Given the description of an element on the screen output the (x, y) to click on. 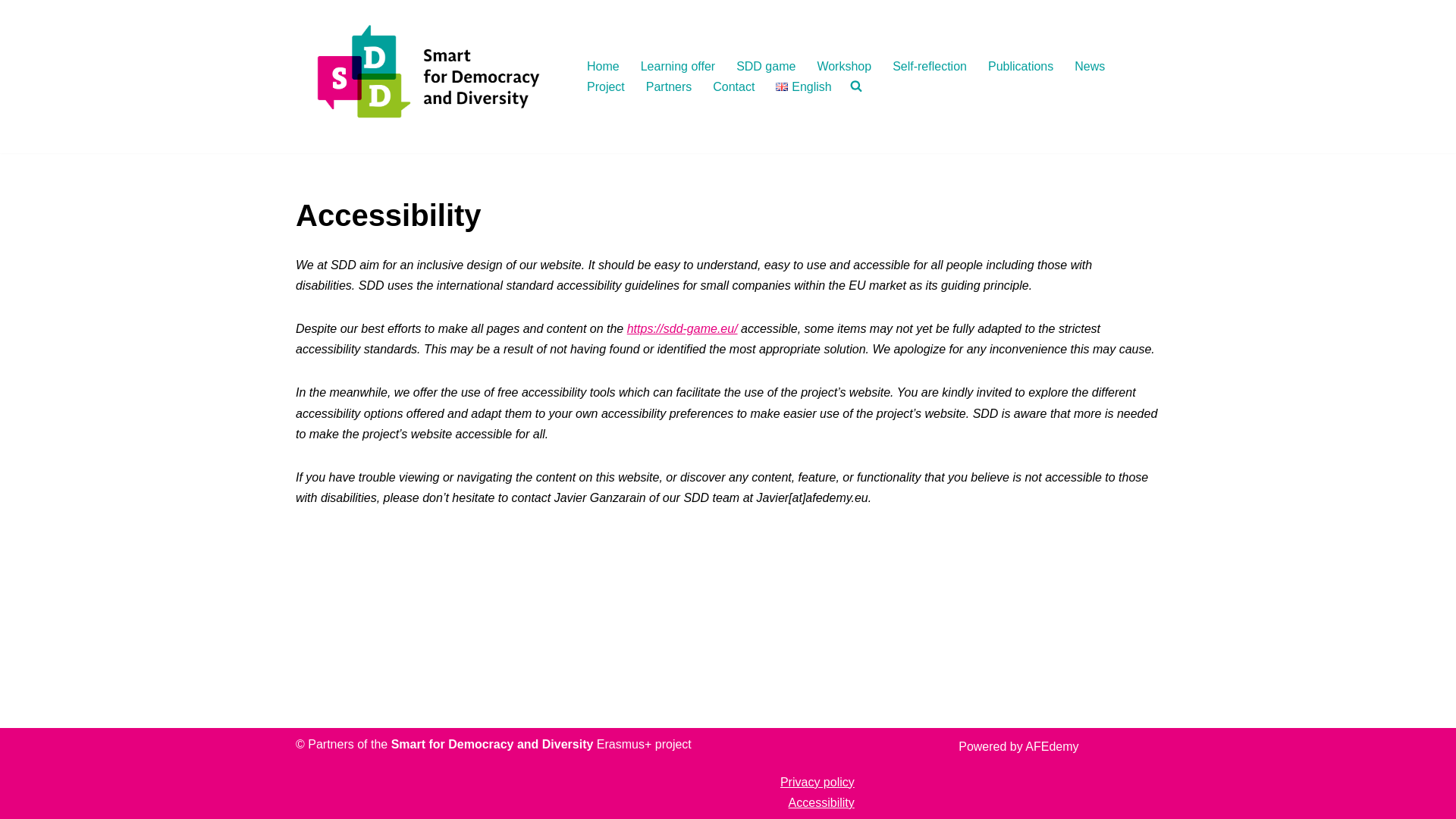
SDD game (765, 66)
Publications (1020, 66)
Project (605, 86)
Partners (668, 86)
Privacy policy (817, 781)
News (1089, 66)
Learning offer (677, 66)
Accessibility (821, 802)
Self-reflection (929, 66)
Powered by AFEdemy (1018, 746)
